Given the description of an element on the screen output the (x, y) to click on. 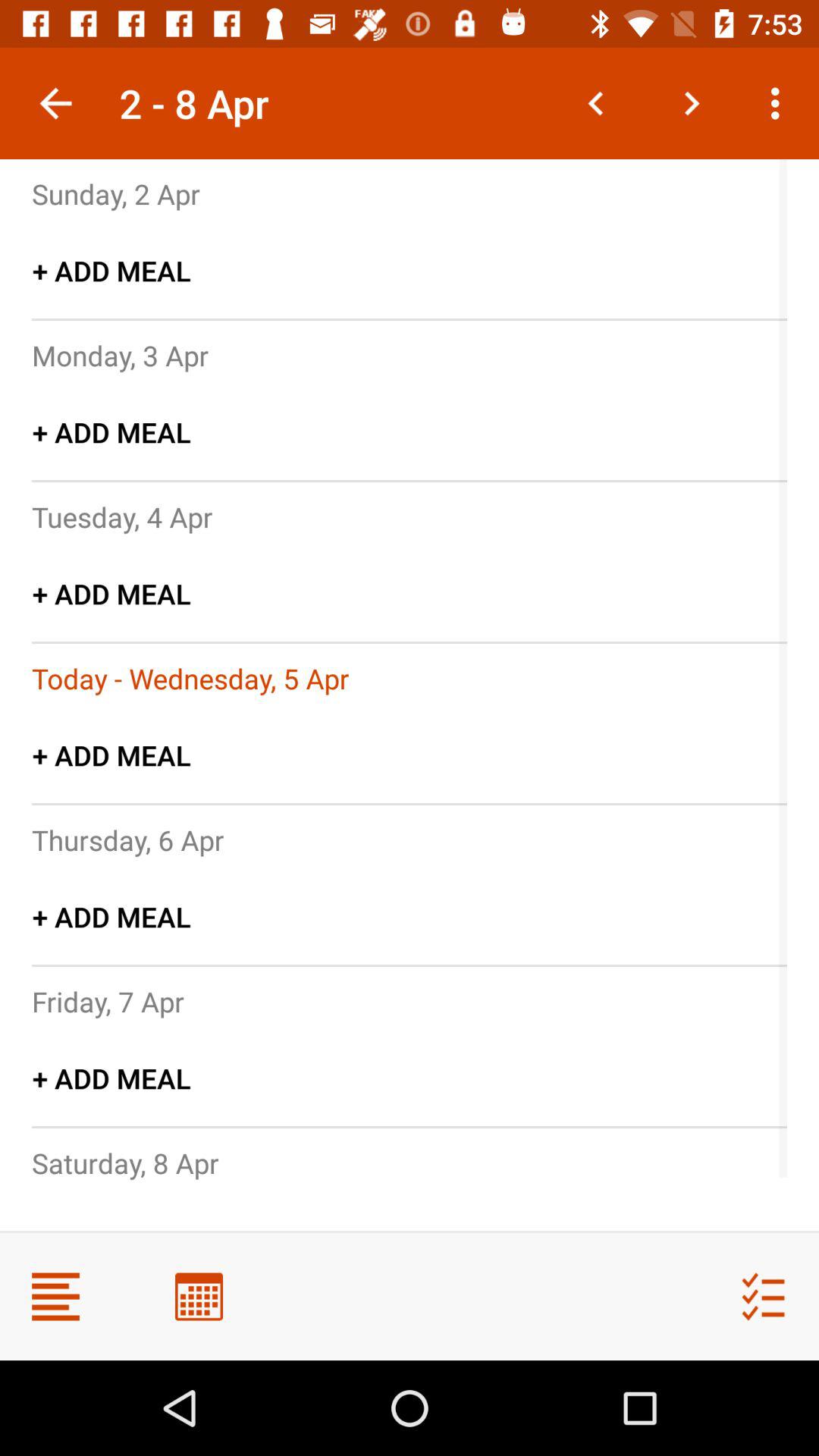
go back (595, 103)
